Given the description of an element on the screen output the (x, y) to click on. 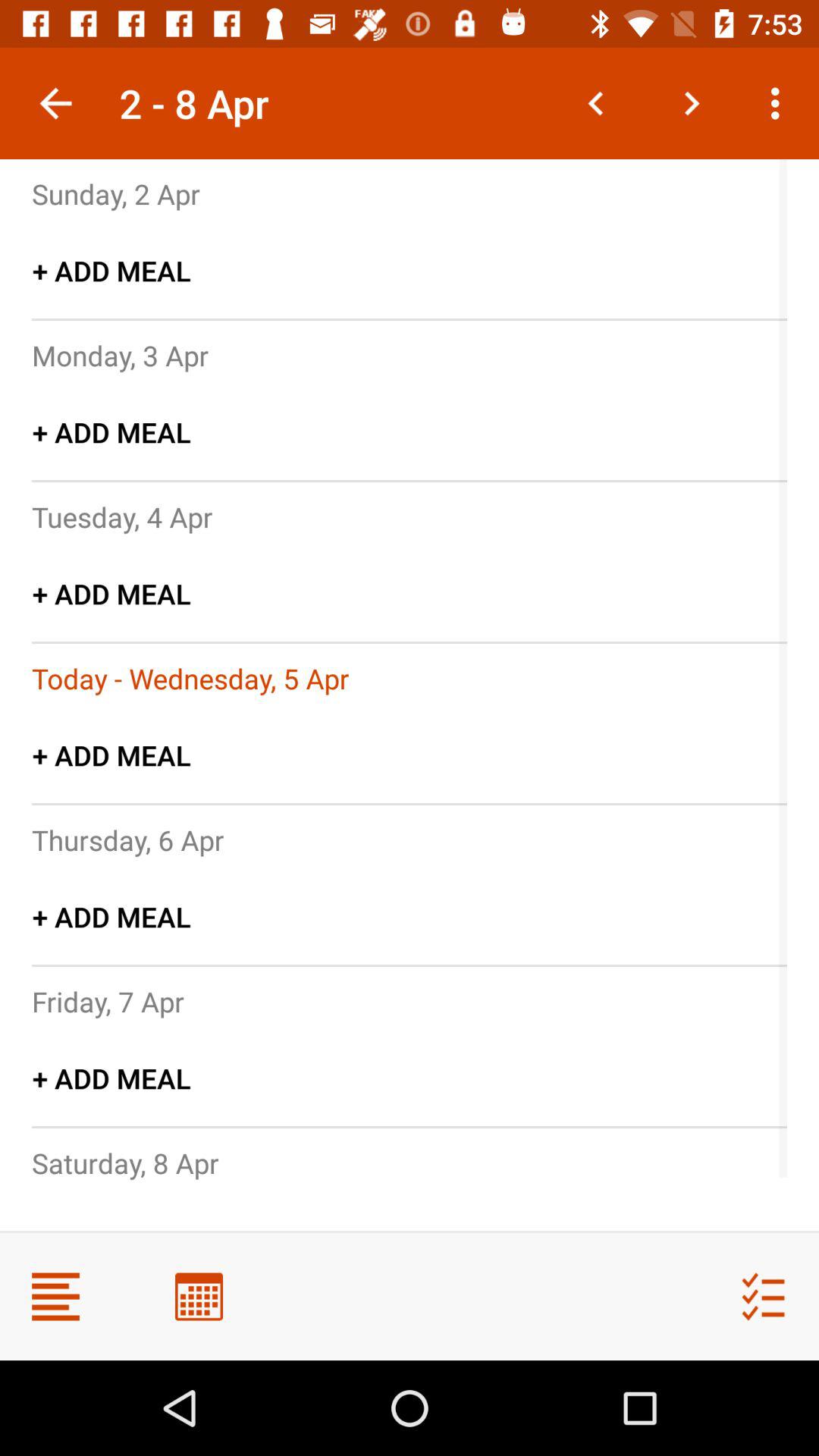
go back (595, 103)
